Given the description of an element on the screen output the (x, y) to click on. 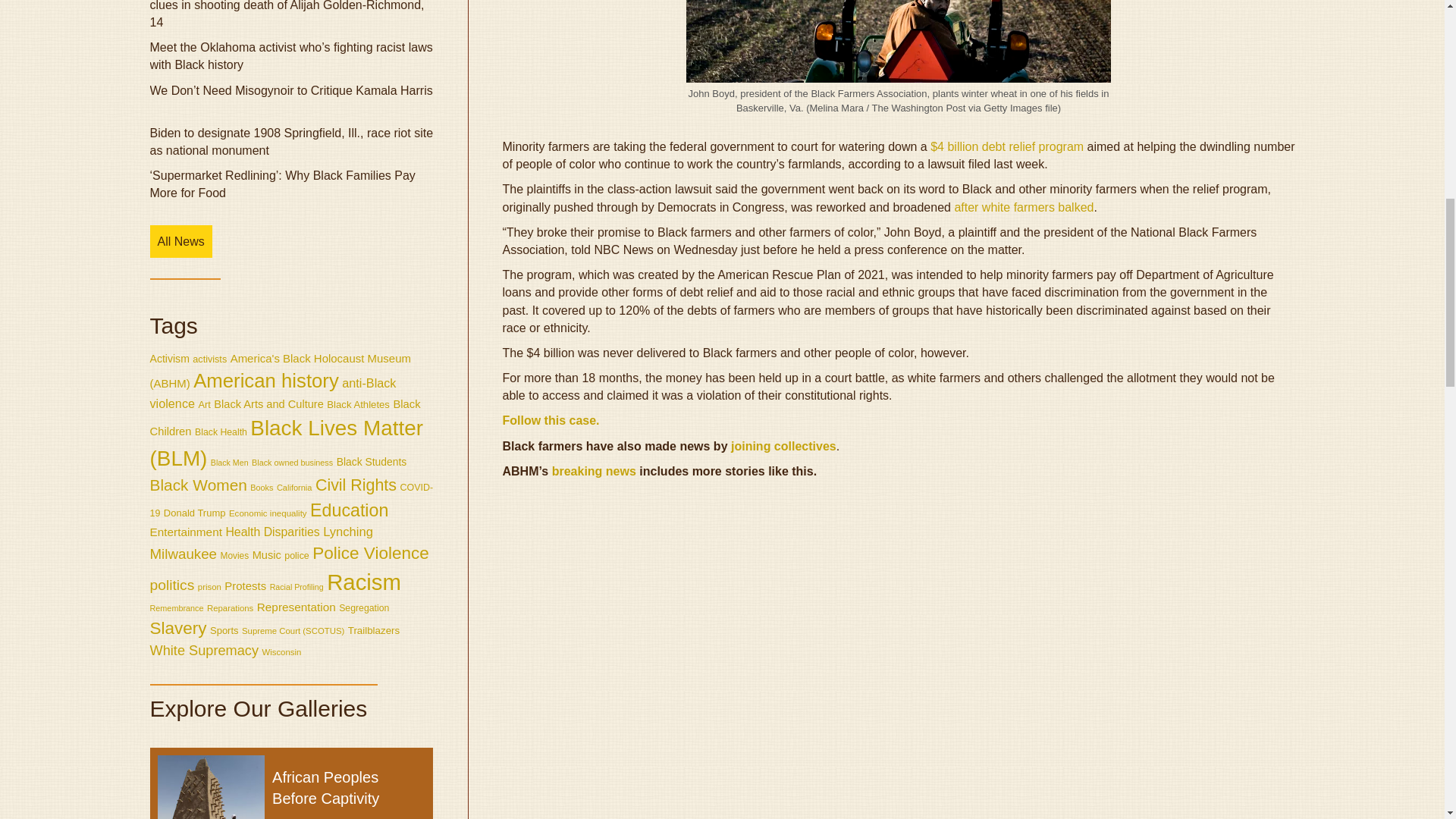
activists (209, 357)
Activism (169, 357)
anti-Black violence (272, 392)
American history (266, 380)
All News (180, 241)
